Given the description of an element on the screen output the (x, y) to click on. 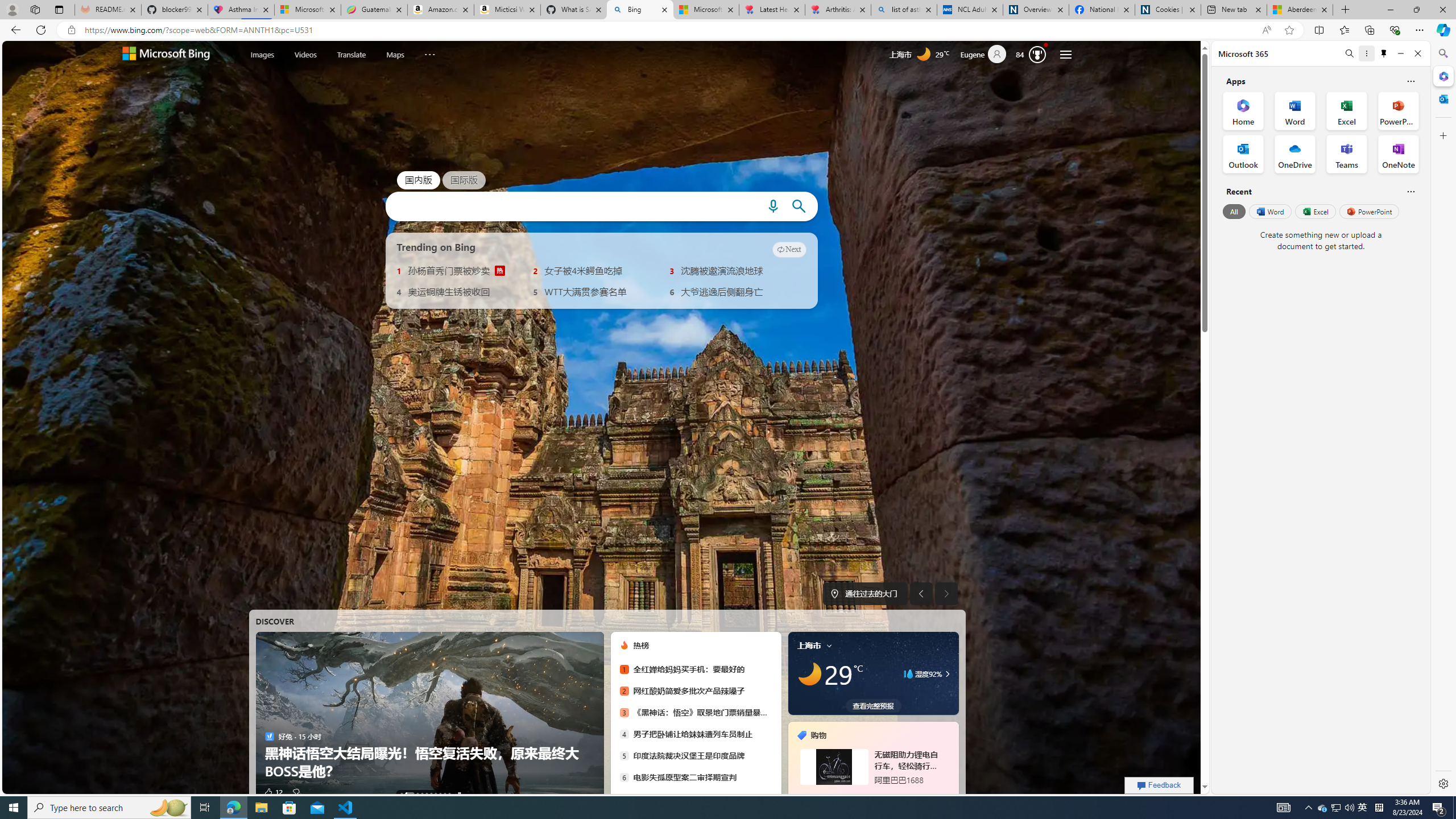
OneNote Office App (1398, 154)
Translate (351, 53)
Maps (394, 54)
AutomationID: tab-6 (435, 793)
Class: weather-arrow-glyph (946, 673)
Trending on Bing (436, 246)
